Given the description of an element on the screen output the (x, y) to click on. 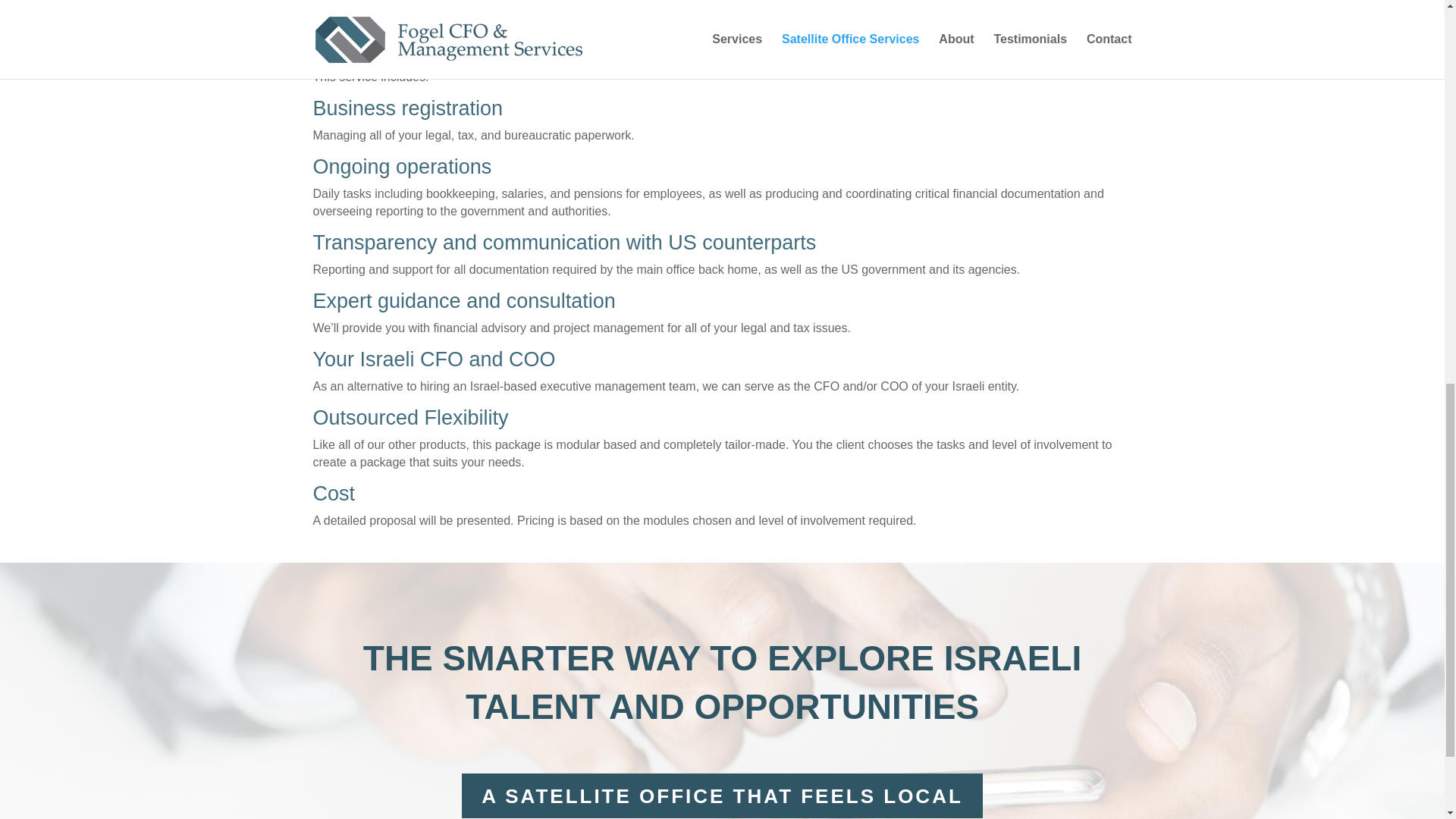
A SATELLITE OFFICE THAT FEELS LOCAL (721, 796)
